Given the description of an element on the screen output the (x, y) to click on. 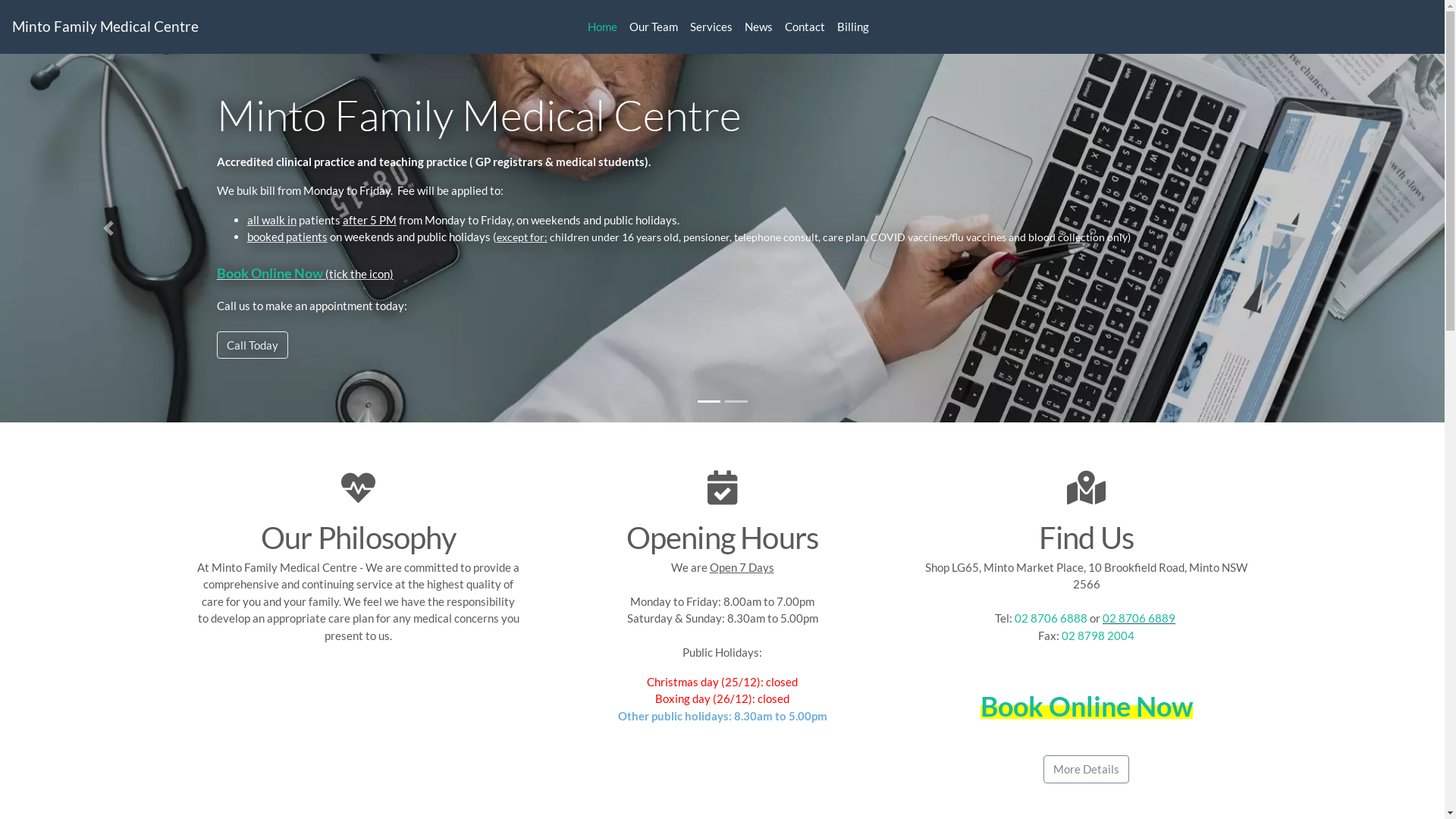
  Element type: text (1176, 617)
Call Today Element type: text (252, 344)
Contact Element type: text (804, 26)
News Element type: text (758, 26)
More Details Element type: text (1086, 769)
Book Online Now  Element type: text (270, 270)
Services Element type: text (711, 26)
Our Team Element type: text (653, 26)
02 8706 6889 Element type: text (1138, 617)
Minto Family Medical Centre Element type: text (246, 26)
02 8798 2004 Element type: text (1097, 634)
Previous Element type: text (108, 228)
Next Element type: text (1335, 228)
Book Online Now Element type: text (1085, 704)
Billing Element type: text (853, 26)
Home Element type: text (602, 26)
02 8706 6888 Element type: text (1050, 617)
